Given the description of an element on the screen output the (x, y) to click on. 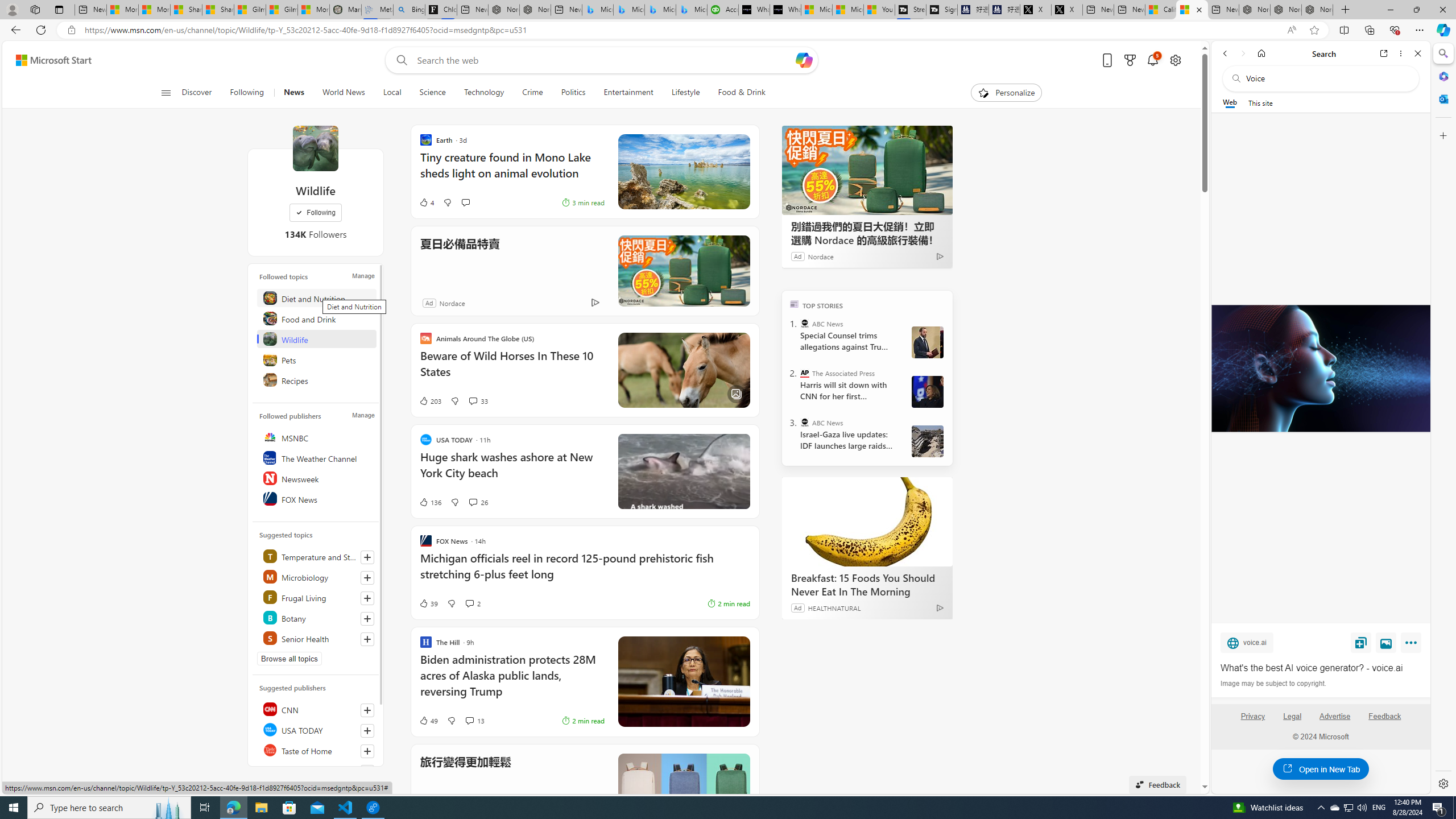
Save (1361, 642)
Follow this topic (367, 638)
Chloe Sorvino (440, 9)
39 Like (427, 603)
Technology (483, 92)
Wildlife (314, 148)
Politics (572, 92)
